Given the description of an element on the screen output the (x, y) to click on. 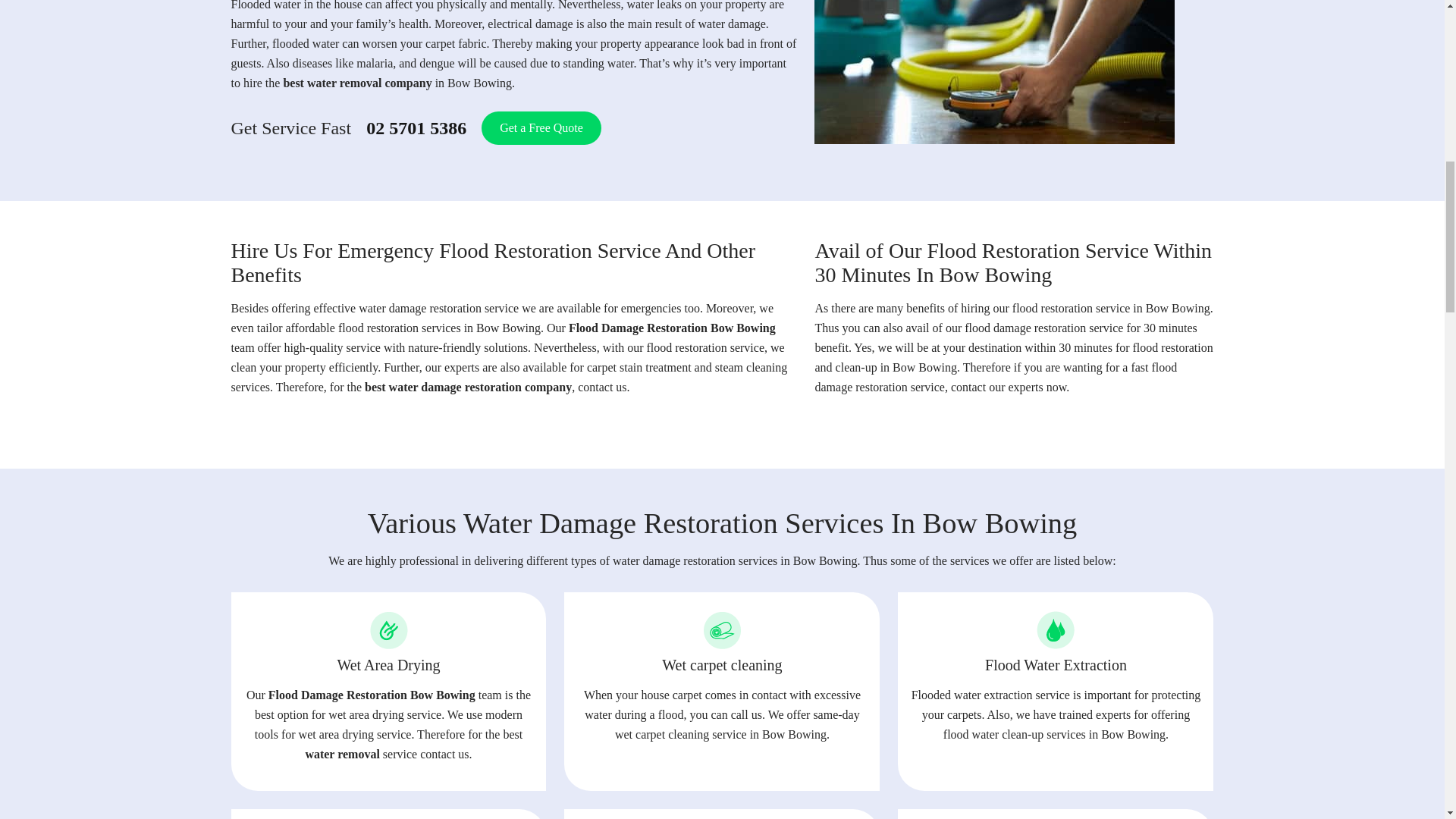
02 5701 5386 (415, 128)
Get a Free Quote (541, 127)
